Given the description of an element on the screen output the (x, y) to click on. 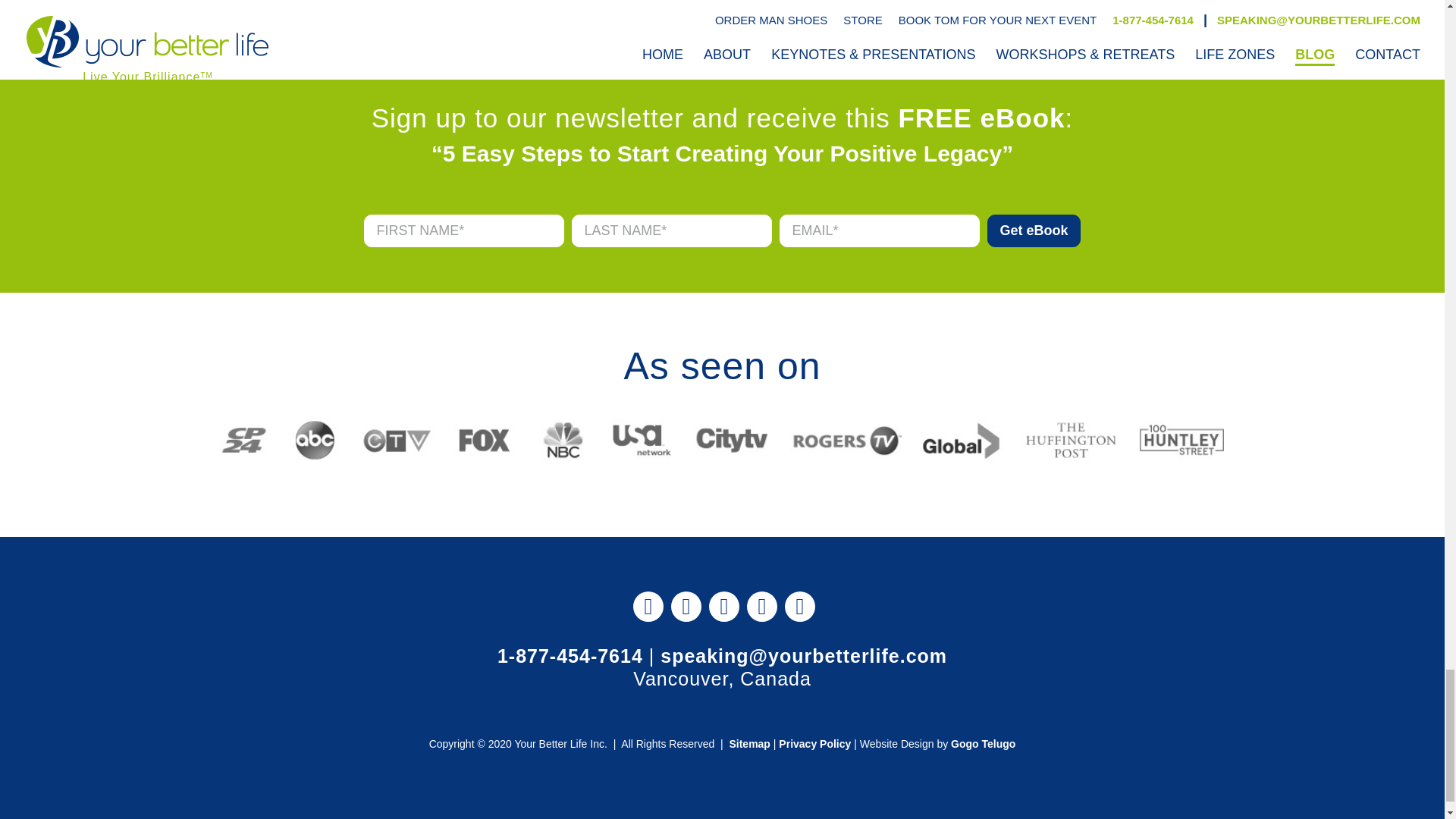
Get eBook (1033, 230)
